Given the description of an element on the screen output the (x, y) to click on. 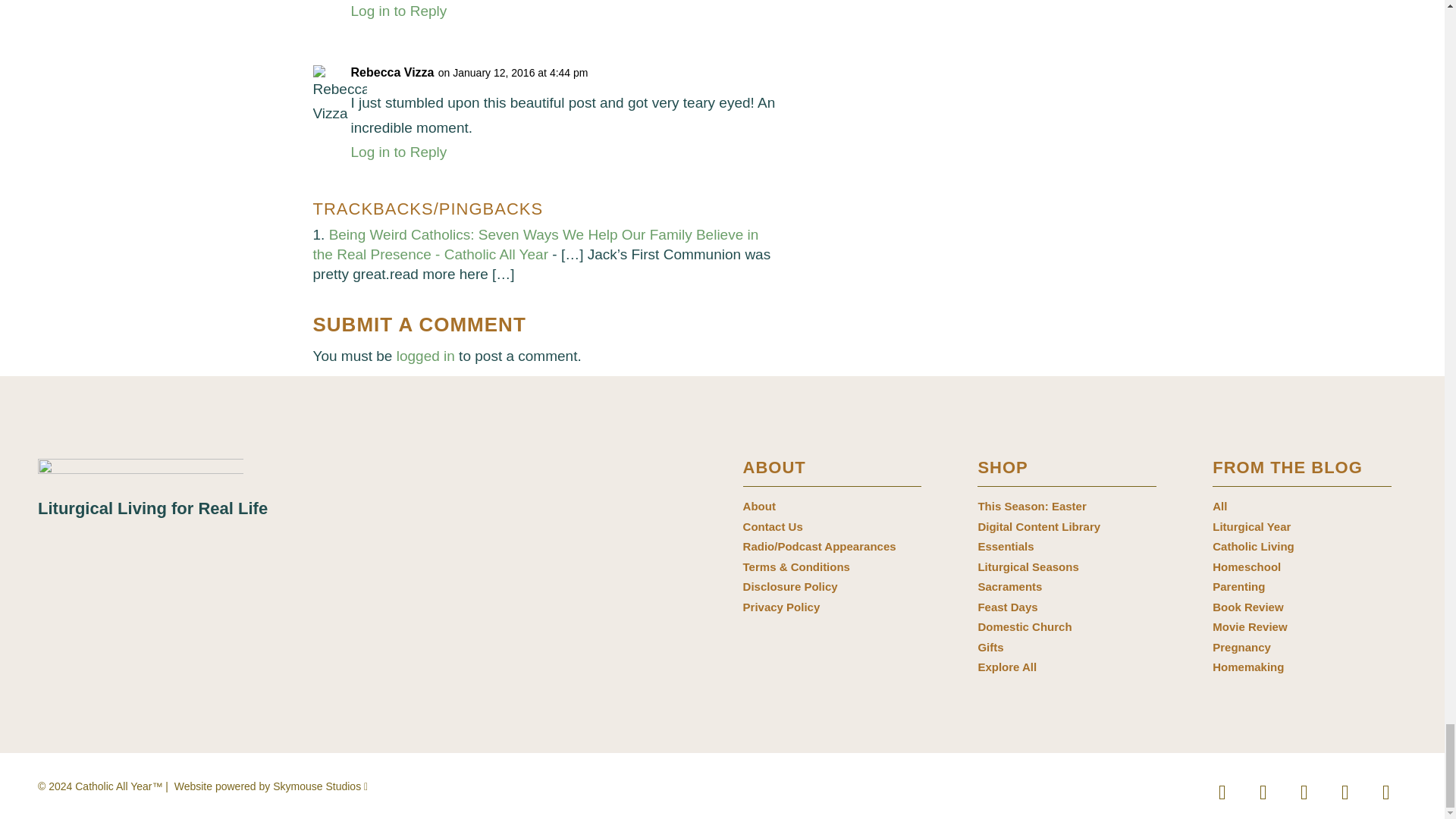
Follow on Youtube (1344, 792)
Follow on Instagram (1263, 792)
Follow on Pinterest (1304, 792)
Follow on Facebook (1222, 792)
Follow on RSS (1385, 792)
